Given the description of an element on the screen output the (x, y) to click on. 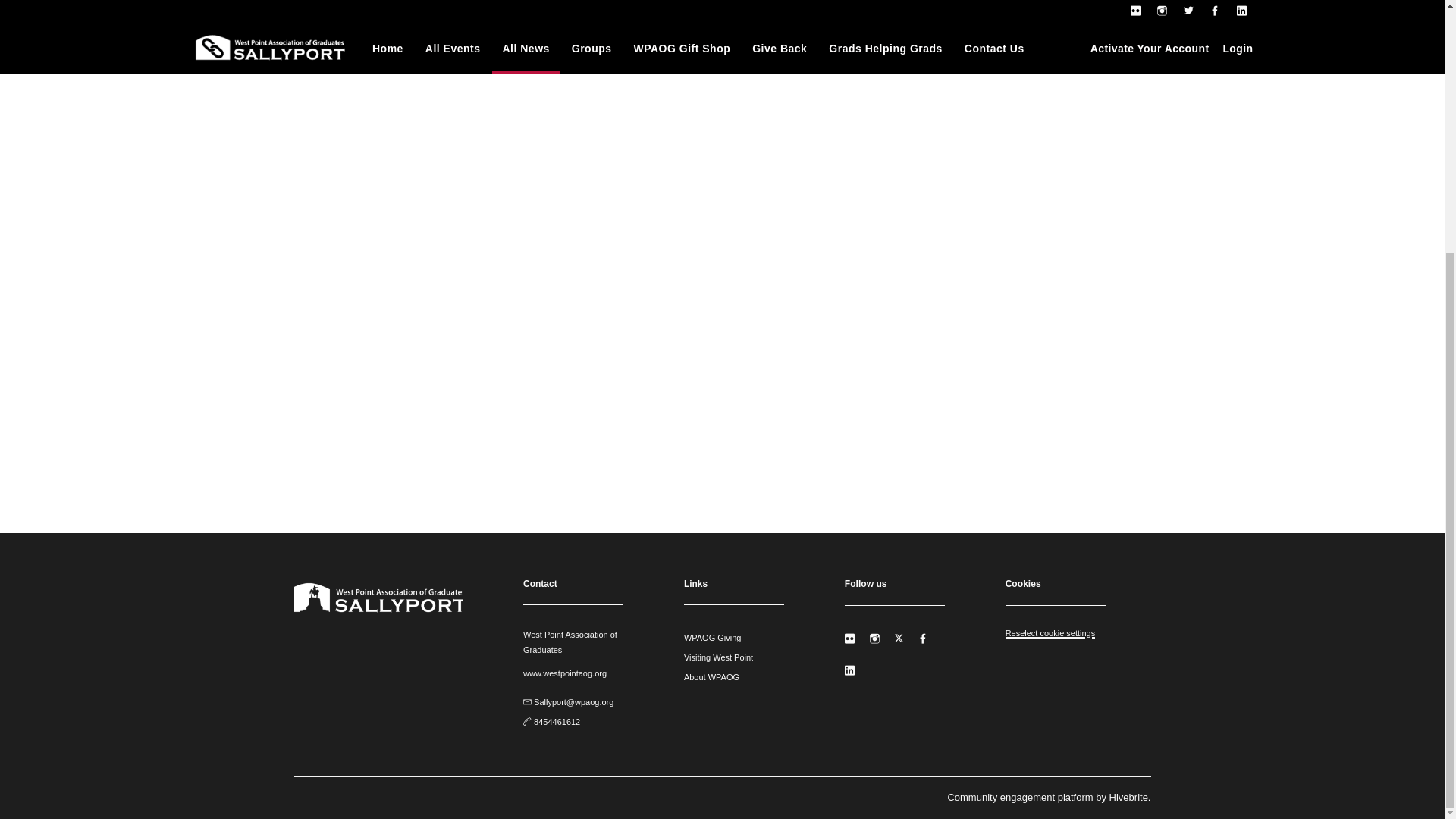
WPAOG Instagram instagram profile (874, 638)
WPAOG Twitter twitter profile (898, 638)
WPAOG LinkedIn linkedin profile (849, 670)
WPAOG Flickr flickr profile (849, 638)
Visiting West Point (718, 656)
WPAOG Facebook facebook profile (923, 638)
About WPAOG (711, 676)
WPAOG Giving (712, 637)
